Given the description of an element on the screen output the (x, y) to click on. 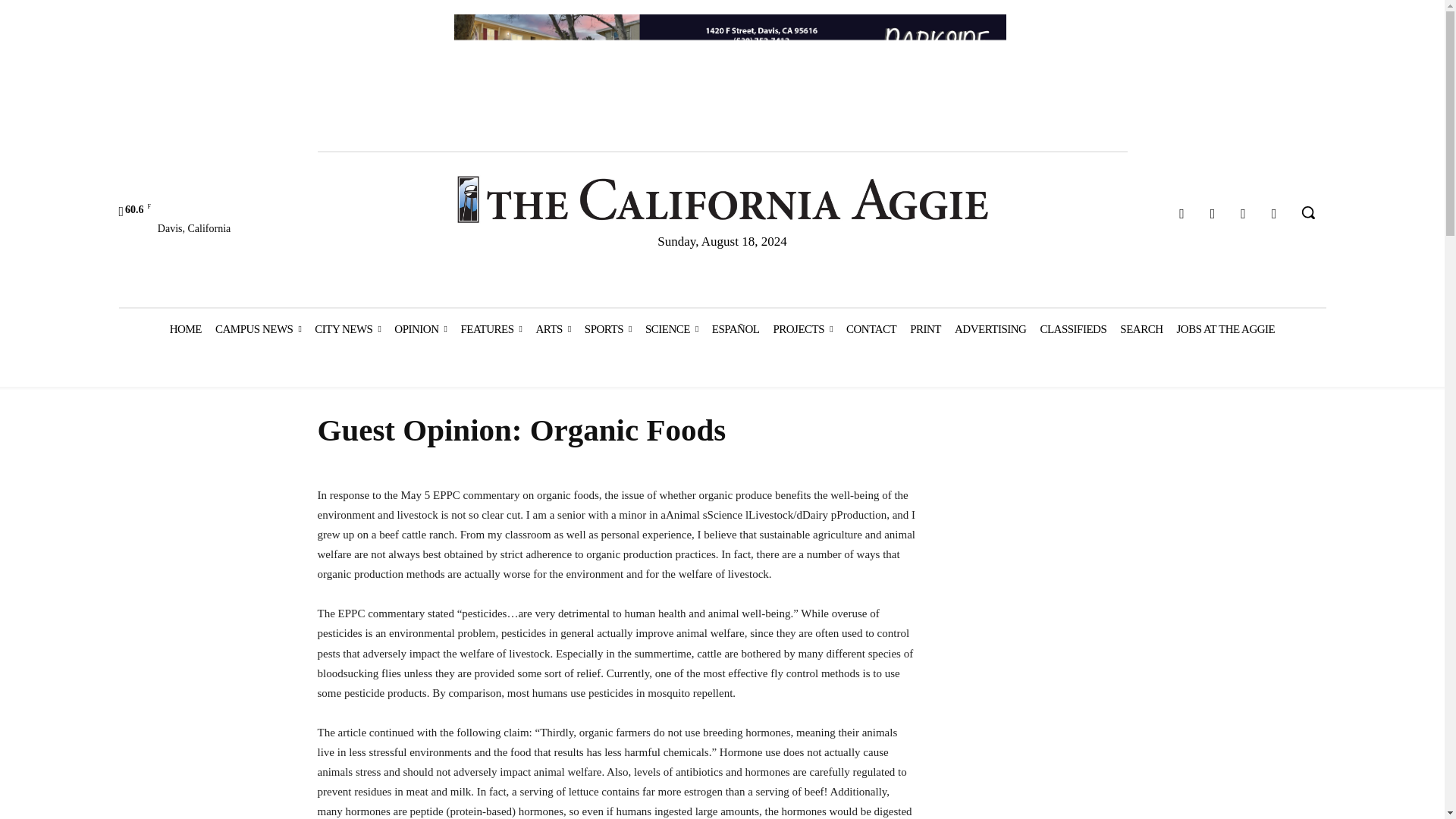
Instagram (1212, 214)
Facebook (1181, 214)
Youtube (1273, 214)
Twitter (1243, 214)
CAMPUS NEWS (257, 329)
HOME (185, 329)
